Given the description of an element on the screen output the (x, y) to click on. 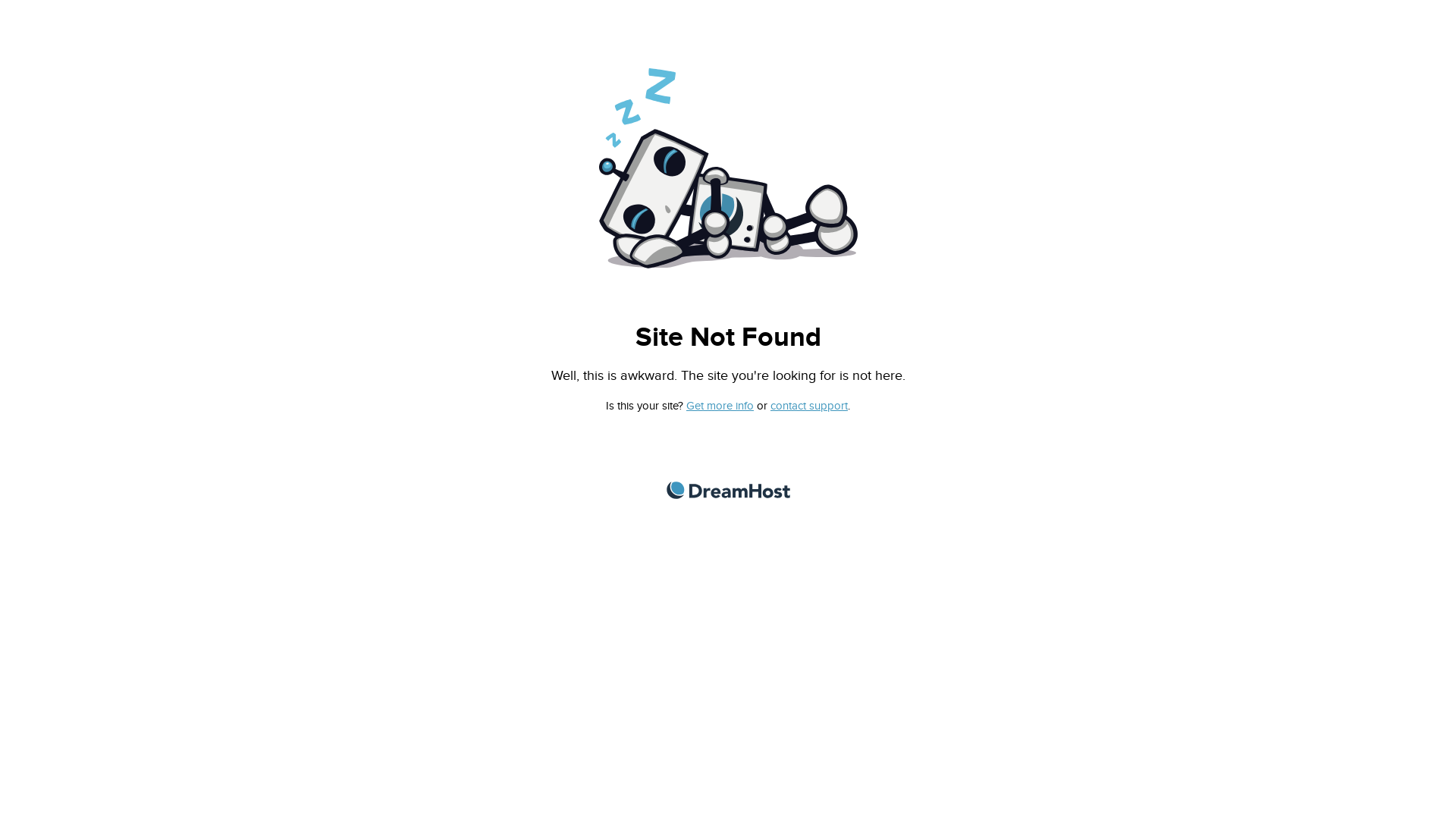
DreamHost Element type: text (727, 489)
contact support Element type: text (808, 405)
Get more info Element type: text (719, 405)
